Given the description of an element on the screen output the (x, y) to click on. 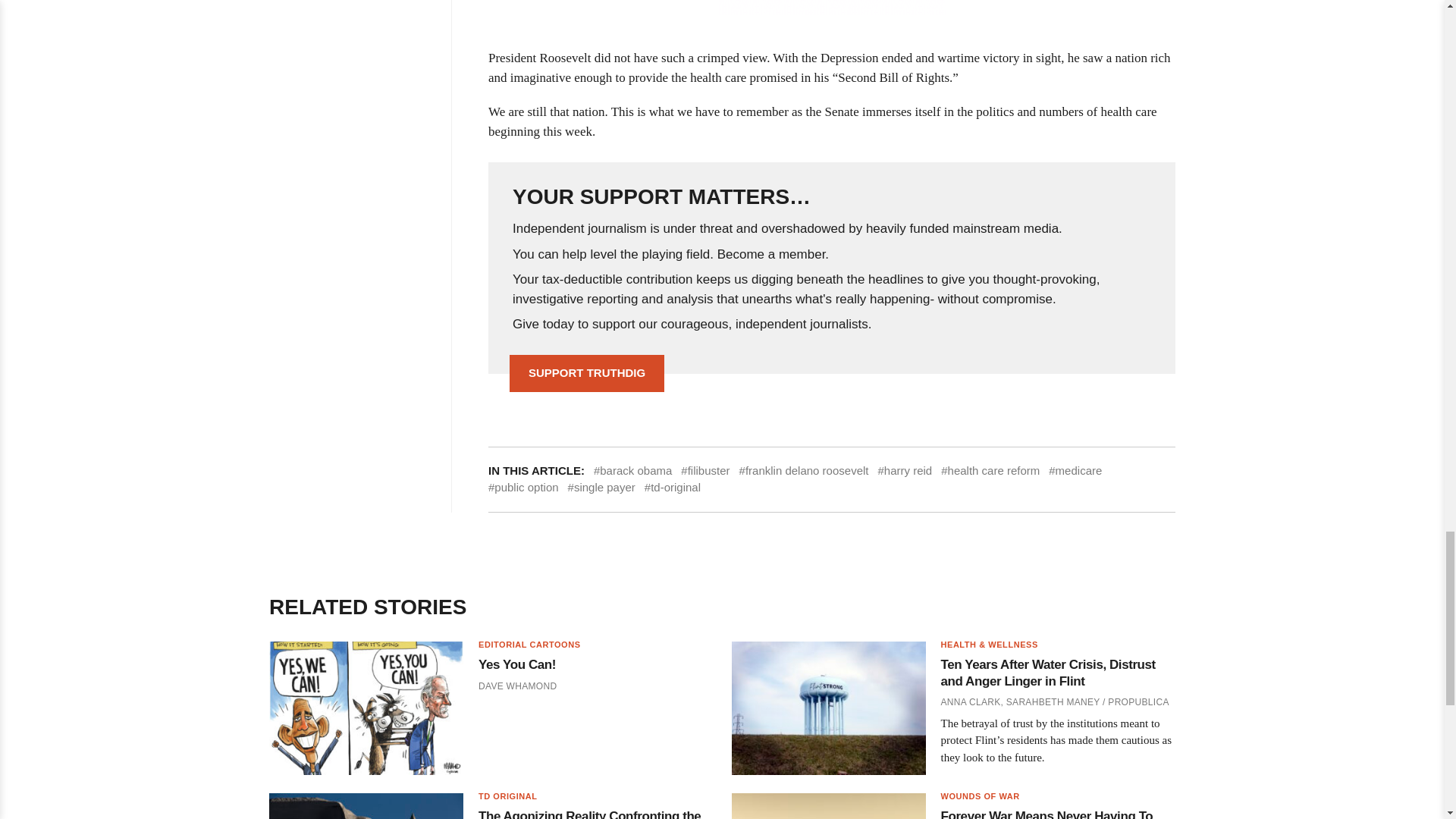
3rd party ad content (830, 7)
